Given the description of an element on the screen output the (x, y) to click on. 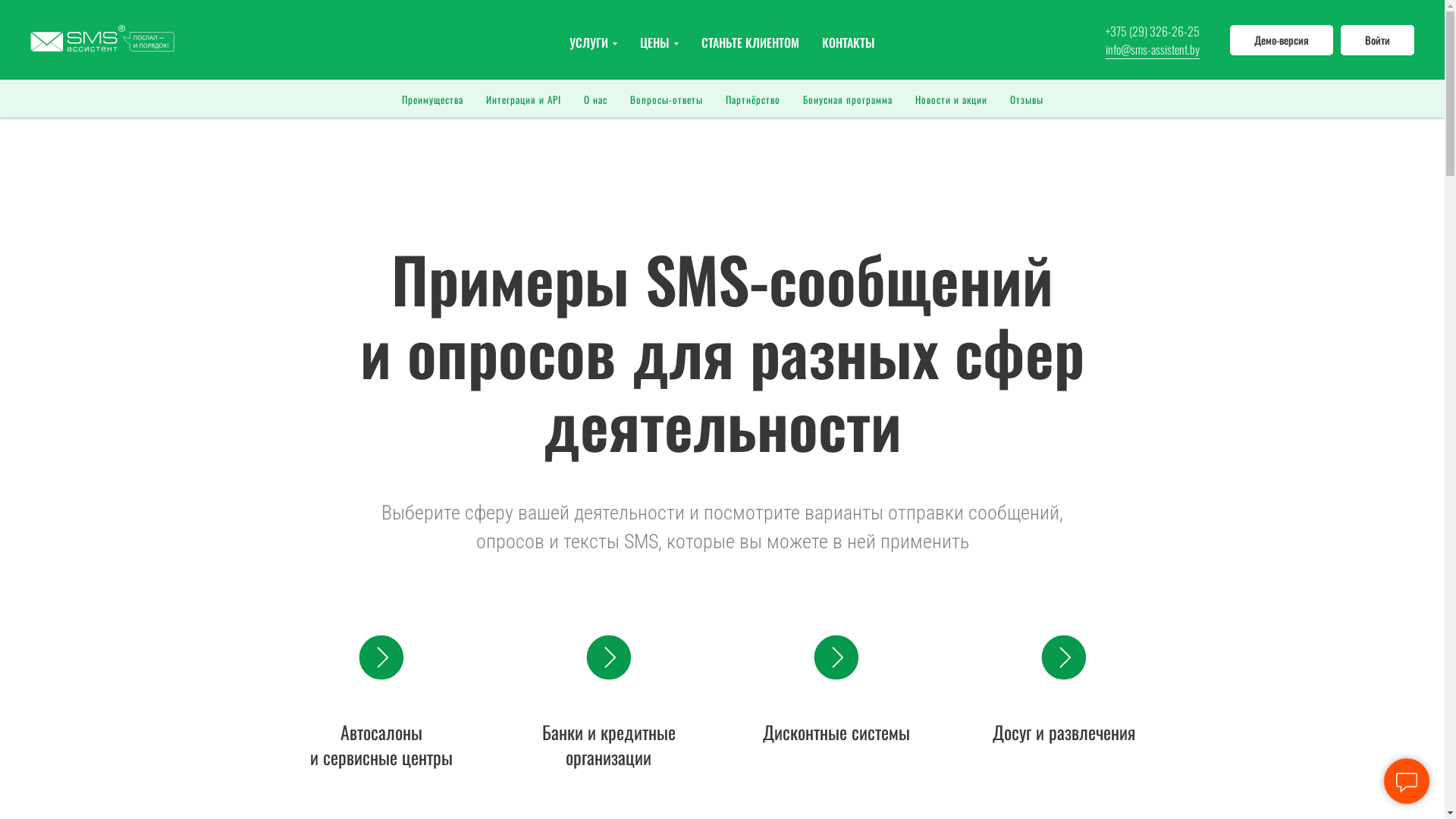
+375 (29) 326-26-25 Element type: text (1152, 30)
info@sms-assistent.by Element type: text (1152, 48)
